Given the description of an element on the screen output the (x, y) to click on. 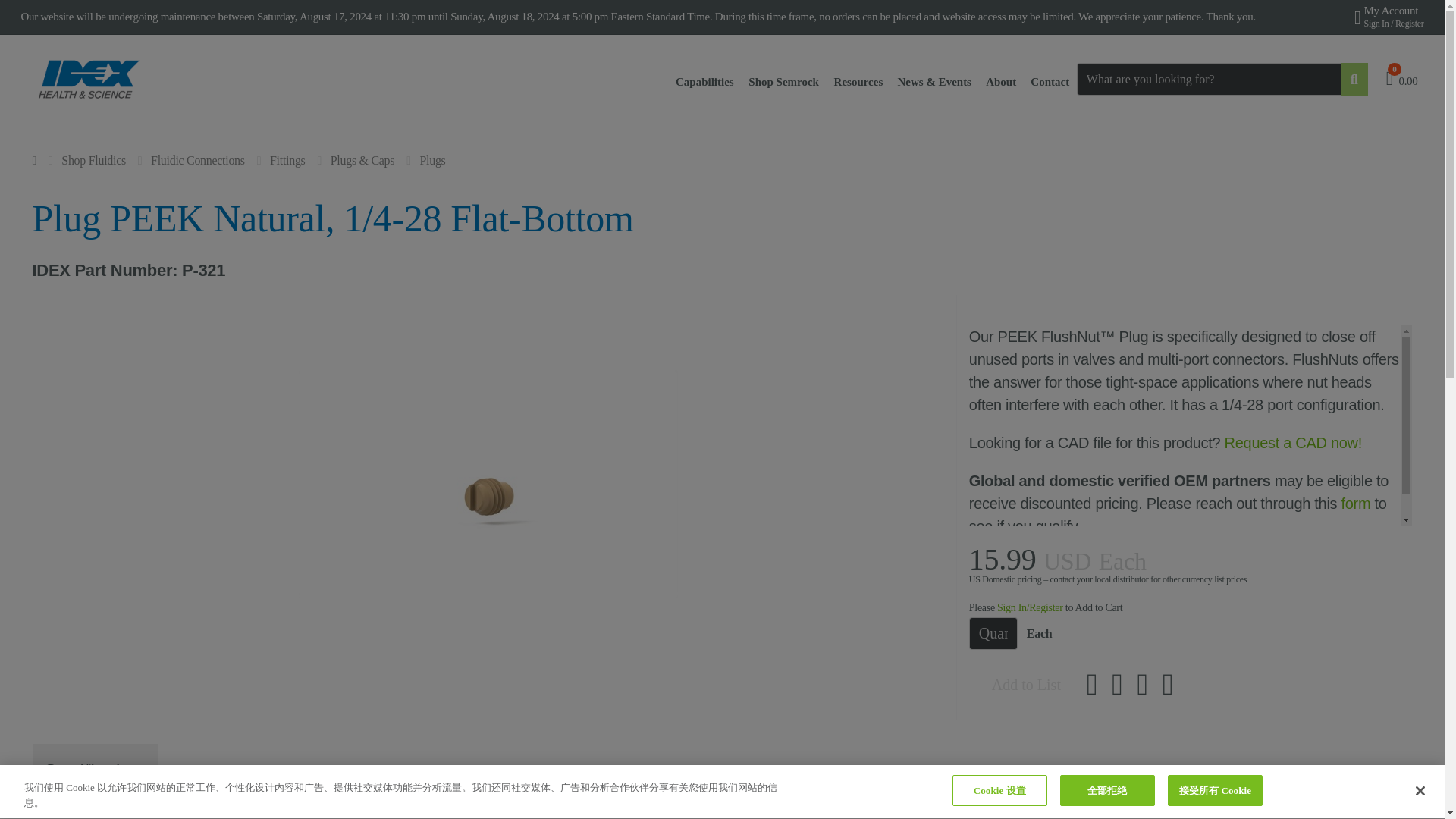
Shop Semrock (784, 82)
IHS Logo (89, 79)
Capabilities (704, 82)
Open image in original size (89, 78)
Resources (858, 82)
